Given the description of an element on the screen output the (x, y) to click on. 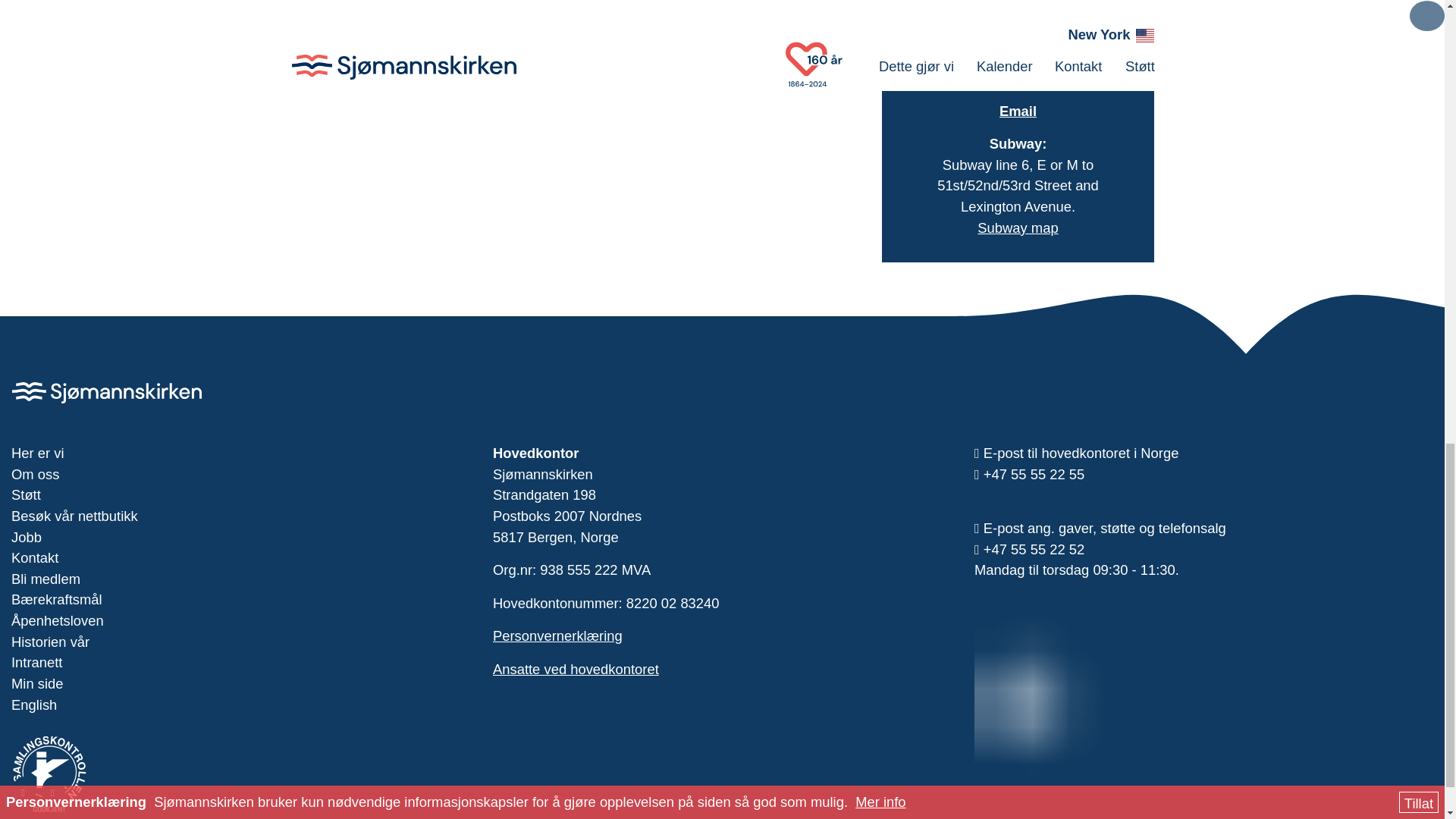
Subway map (1017, 227)
Her er vi (240, 453)
Om oss (240, 474)
Email (1017, 110)
Min side (240, 683)
Bli medlem (240, 578)
Intranett (240, 662)
Jobb (240, 537)
Kontakt (240, 557)
MTA Subway map NYC (1017, 227)
See map (1018, 23)
English (240, 704)
Christian L. Stahr (1017, 110)
Om oss (240, 474)
Her er vi (240, 453)
